Given the description of an element on the screen output the (x, y) to click on. 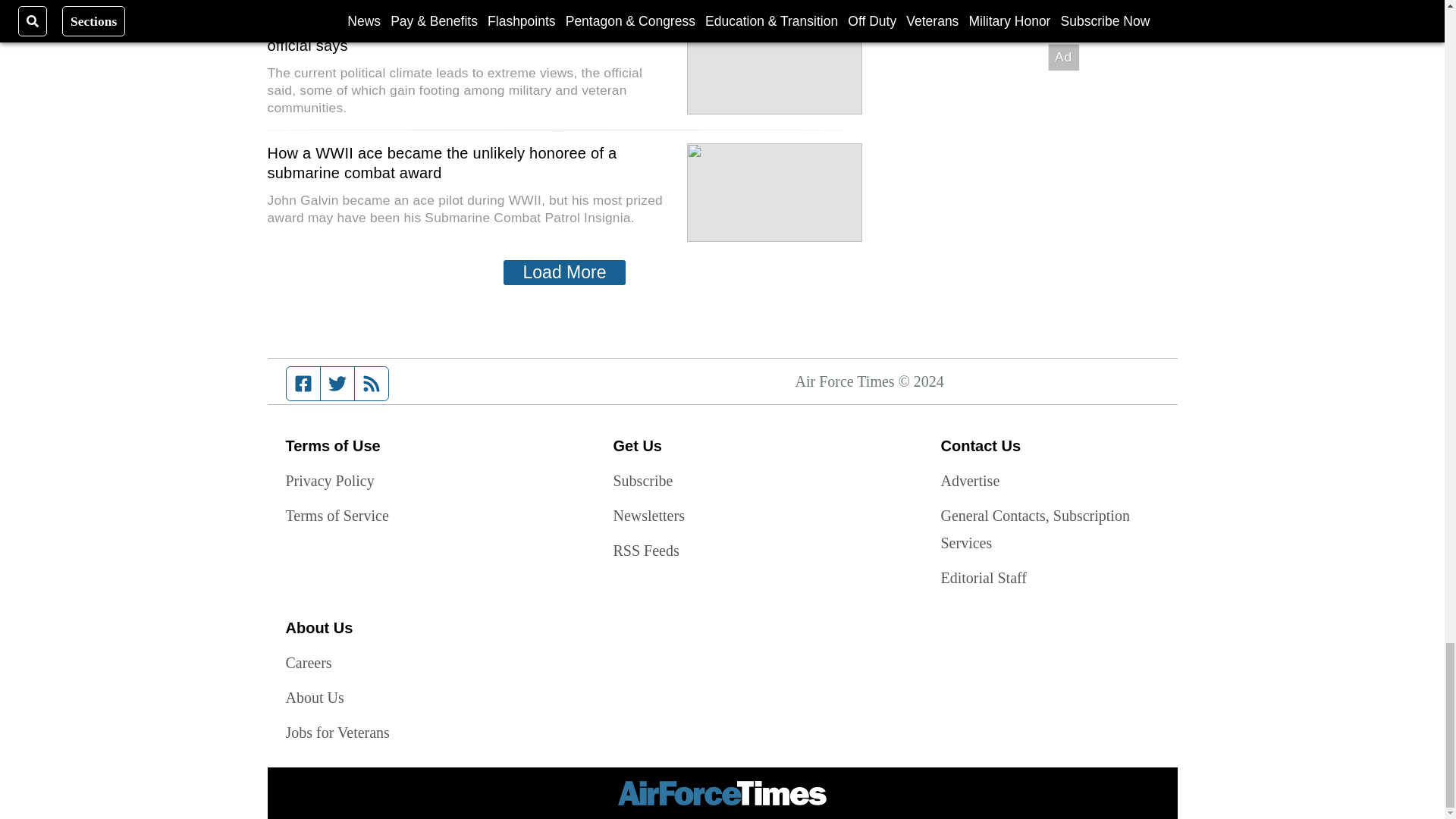
Facebook page (303, 383)
Twitter feed (336, 383)
RSS feed (371, 383)
